Given the description of an element on the screen output the (x, y) to click on. 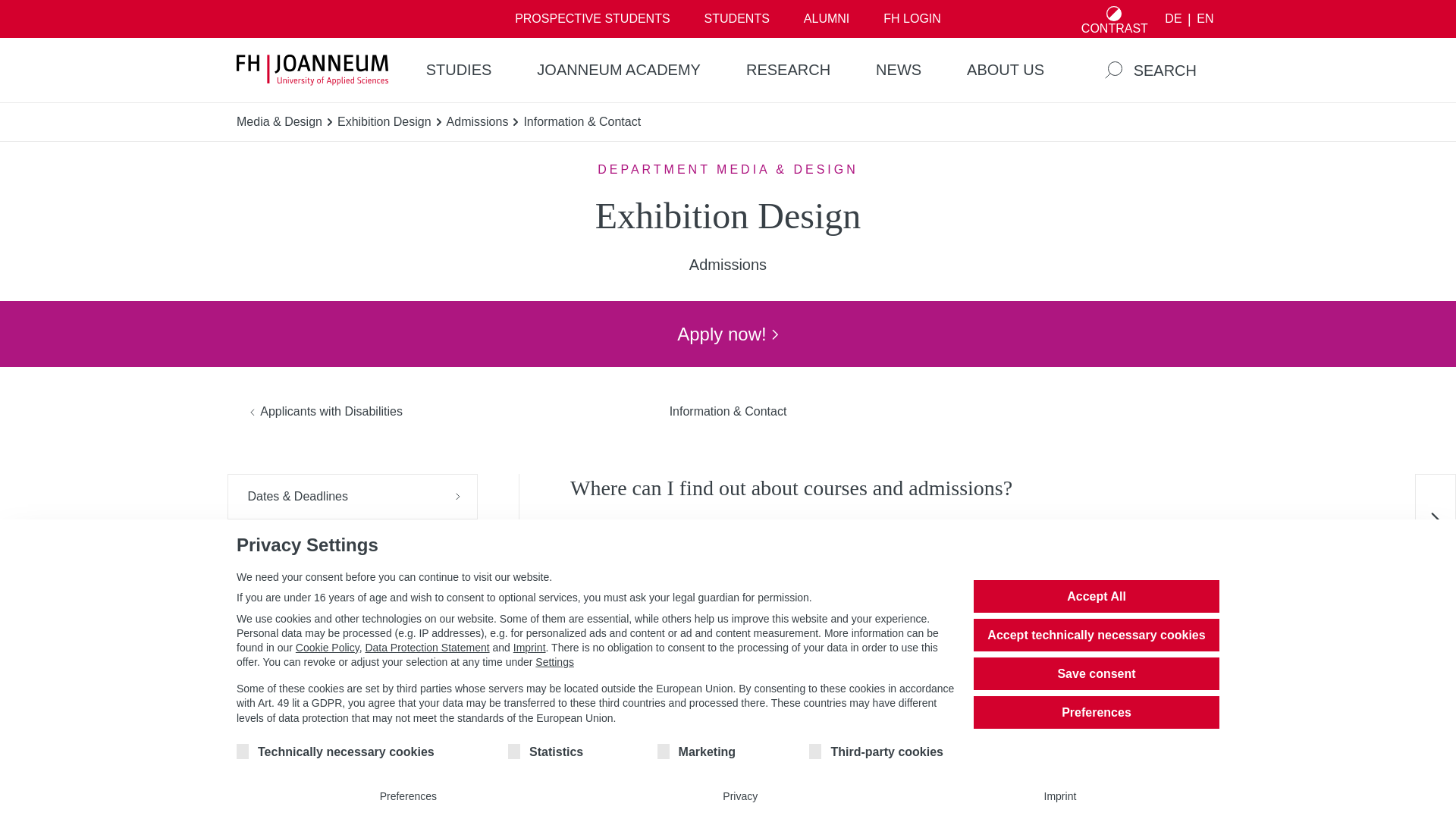
JOANNEUM ACADEMY (618, 69)
DE (1173, 18)
Call Degree Programme Exhibition Design (640, 687)
FH LOGIN (912, 18)
ALUMNI (826, 18)
Contact Degree Programme Exhibition Design by e-mail (641, 666)
NEWS (898, 69)
PROSPECTIVE STUDENTS (592, 18)
STUDIES (459, 69)
SEARCH (1150, 69)
